Given the description of an element on the screen output the (x, y) to click on. 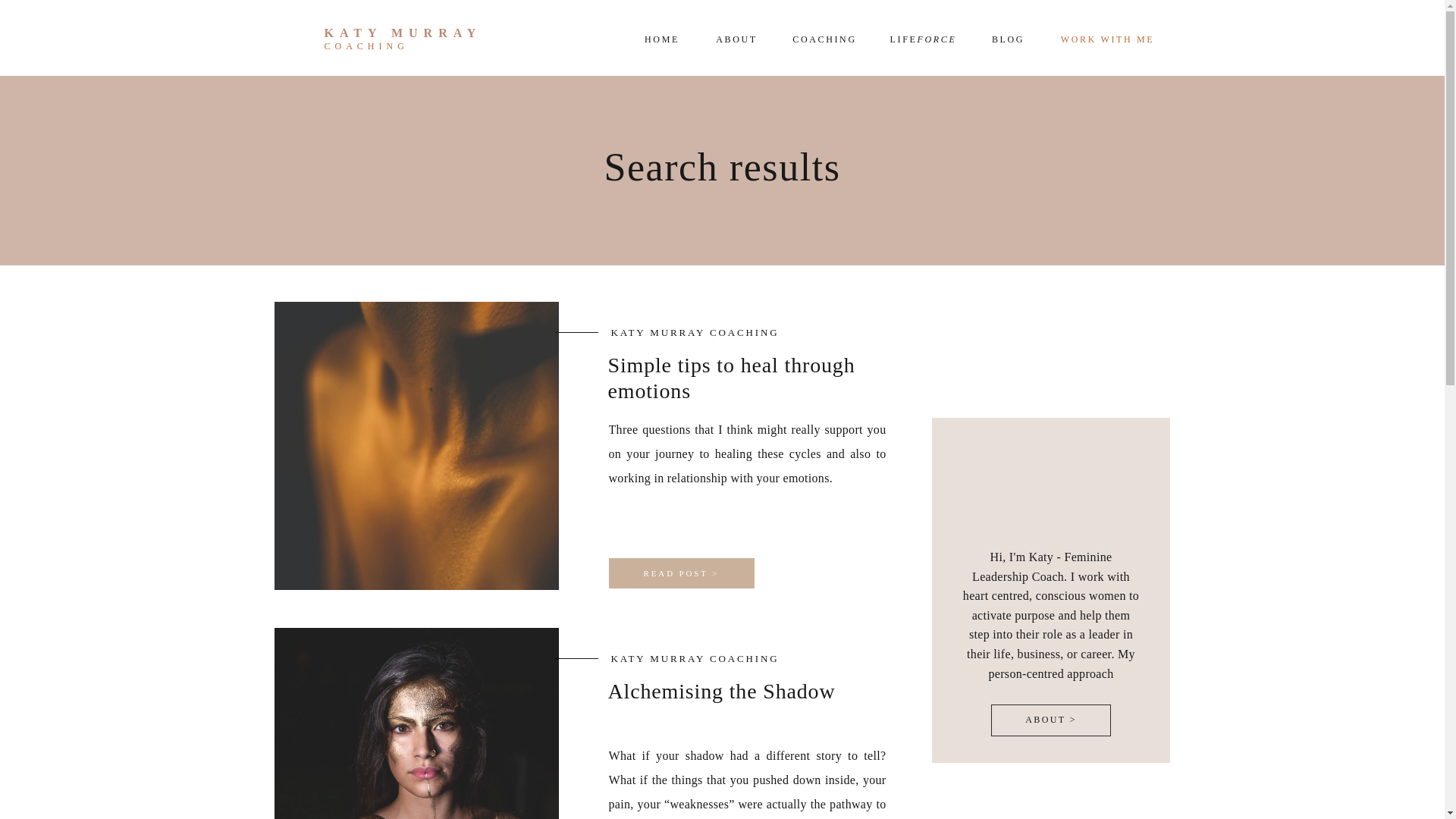
COACHING (405, 45)
BLOG (1007, 37)
HOME (661, 37)
COACHING (823, 37)
KATY MURRAY COACHING (694, 332)
Simple tips to heal through emotions (681, 573)
KATY MURRAY COACHING (694, 658)
KATY MURRAY (418, 33)
Alchemising the Shadow (721, 690)
Simple tips to heal through emotions (732, 377)
